Given the description of an element on the screen output the (x, y) to click on. 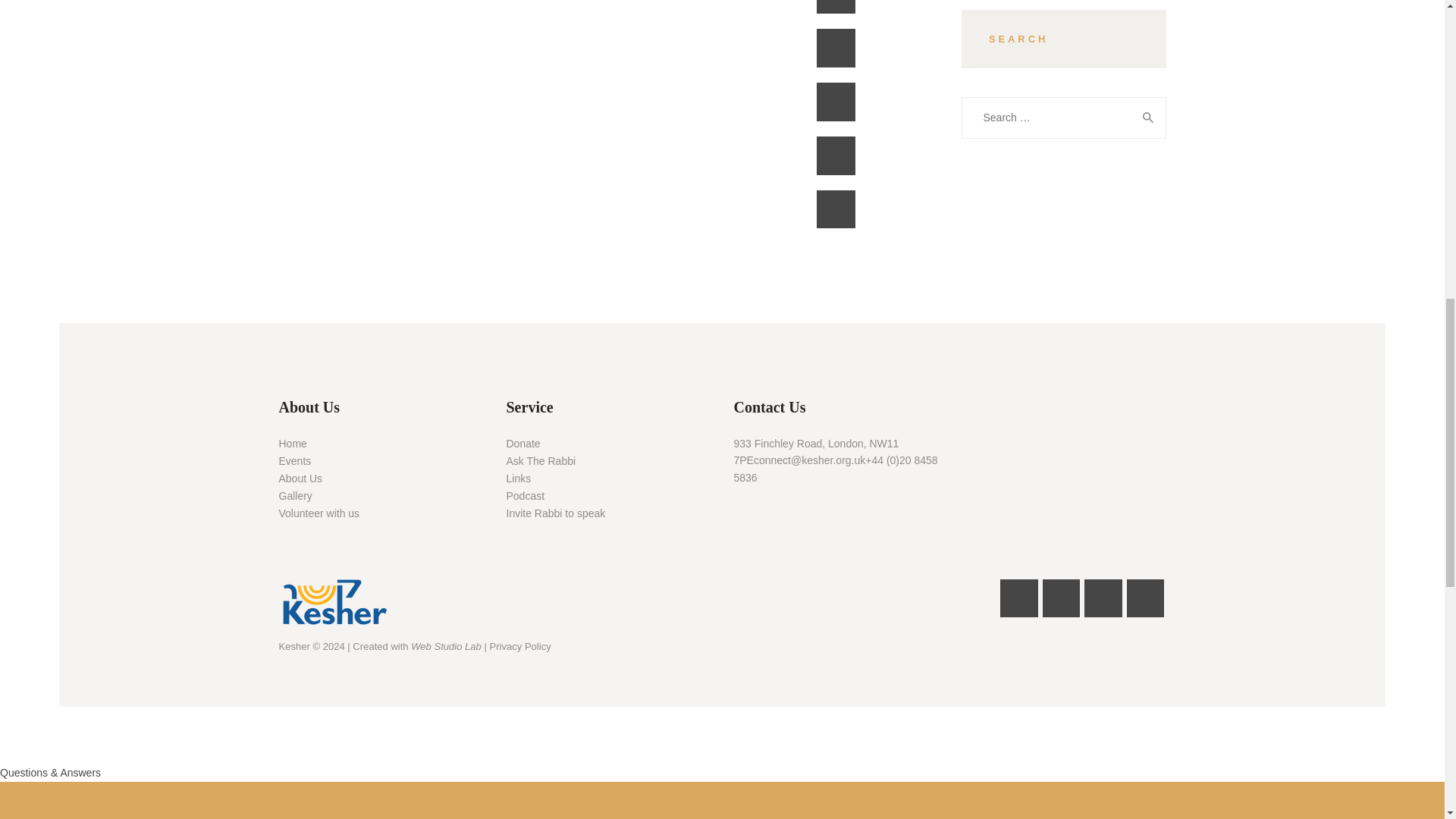
Search (1145, 117)
Search (1145, 117)
